Given the description of an element on the screen output the (x, y) to click on. 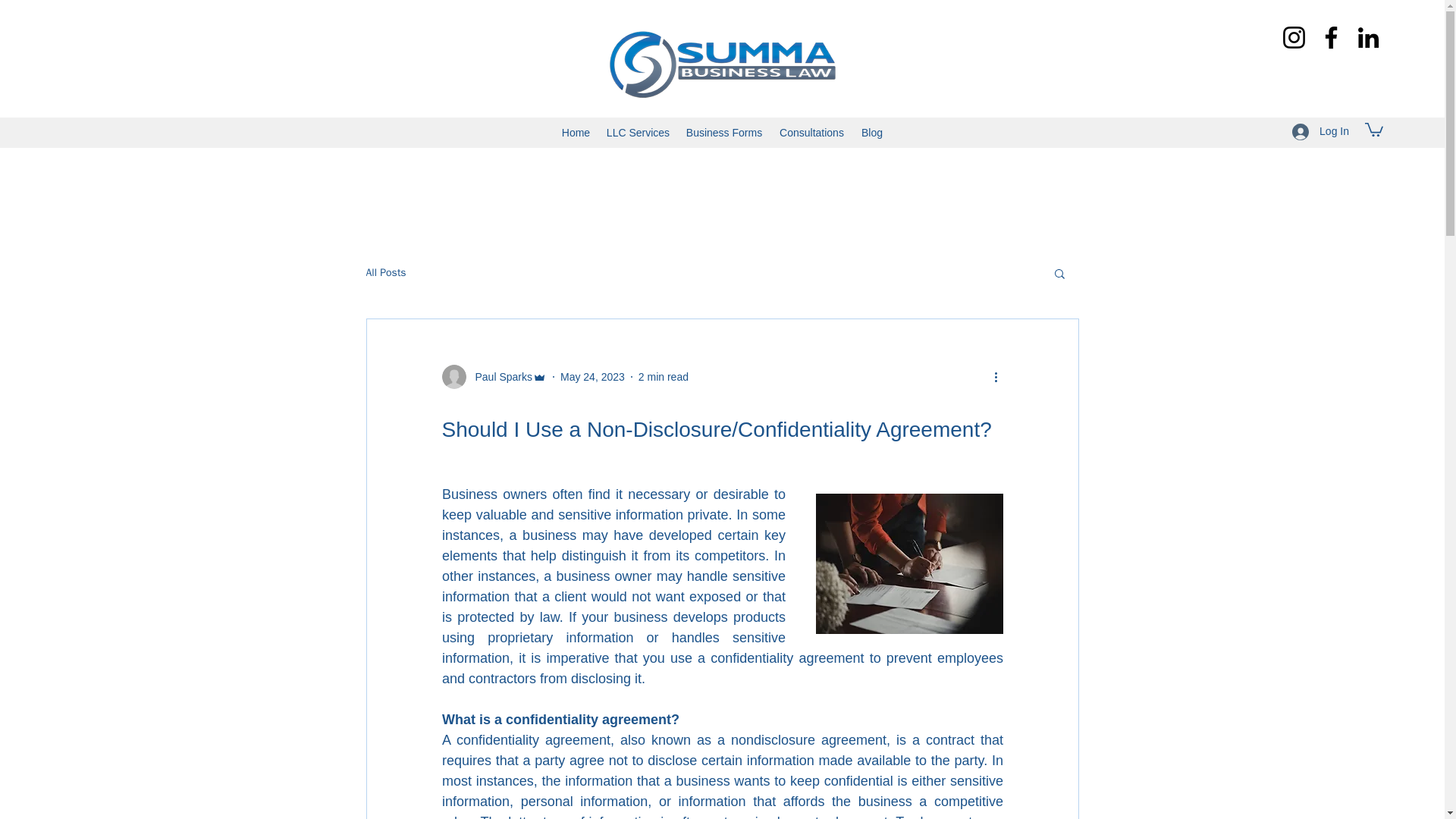
Blog (872, 132)
Paul Sparks (493, 376)
Paul Sparks (498, 376)
Home (575, 132)
Business Forms (724, 132)
2 min read (663, 377)
May 24, 2023 (592, 377)
Log In (1320, 131)
Consultations (811, 132)
LLC Services (638, 132)
All Posts (385, 273)
